Given the description of an element on the screen output the (x, y) to click on. 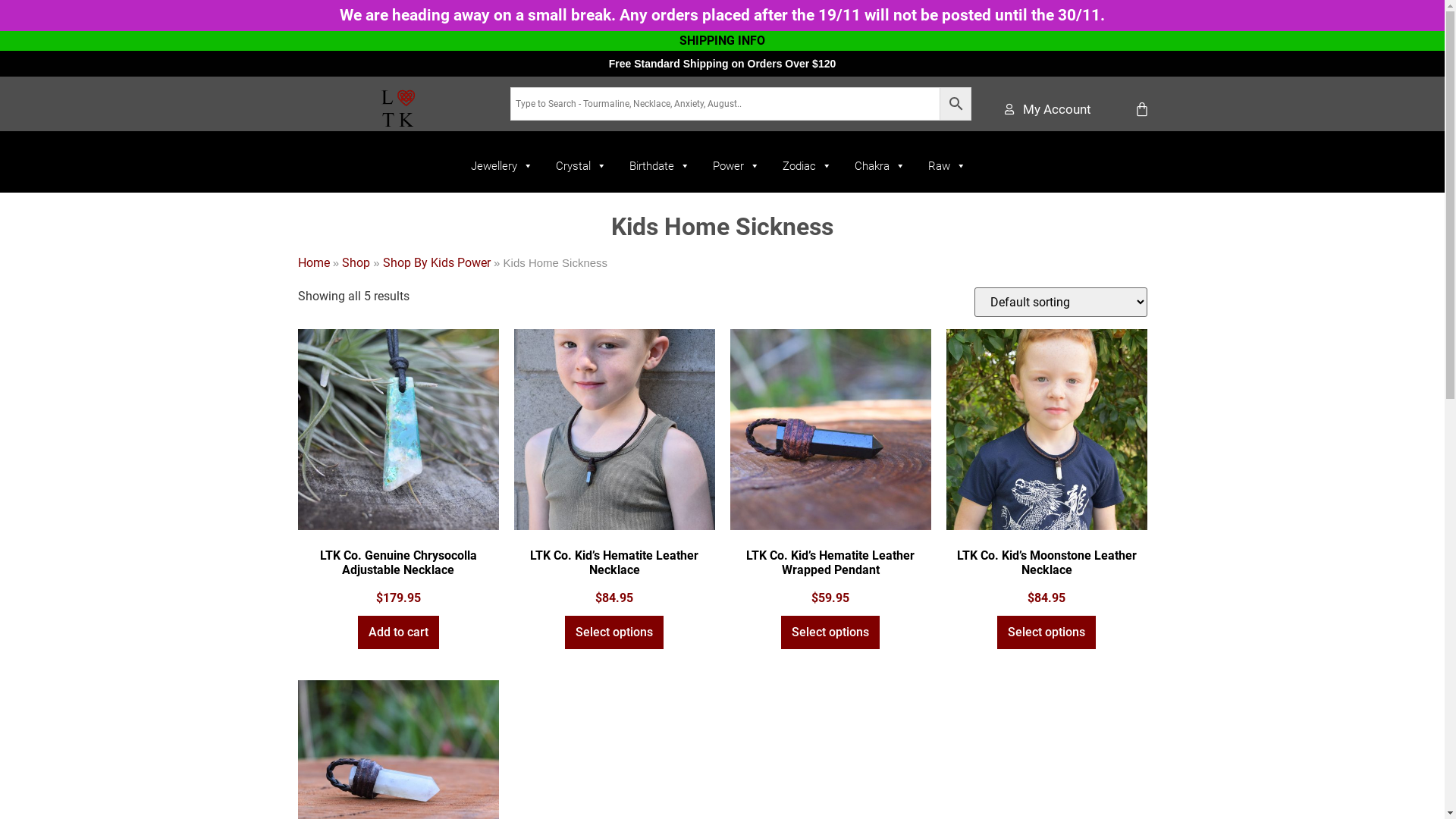
Select options Element type: text (830, 632)
Select options Element type: text (613, 632)
Crystal Element type: text (581, 166)
Select options Element type: text (1046, 632)
Add to cart Element type: text (398, 632)
Chakra Element type: text (880, 166)
Power Element type: text (736, 166)
LTK Co. Genuine Chrysocolla Adjustable Necklace
$179.95 Element type: text (397, 468)
Shop Element type: text (356, 262)
Birthdate Element type: text (659, 166)
SHIPPING INFO Element type: text (722, 40)
Shop By Kids Power Element type: text (436, 262)
My Account Element type: text (1047, 109)
Zodiac Element type: text (807, 166)
Raw Element type: text (946, 166)
Jewellery Element type: text (501, 166)
Home Element type: text (313, 262)
